Given the description of an element on the screen output the (x, y) to click on. 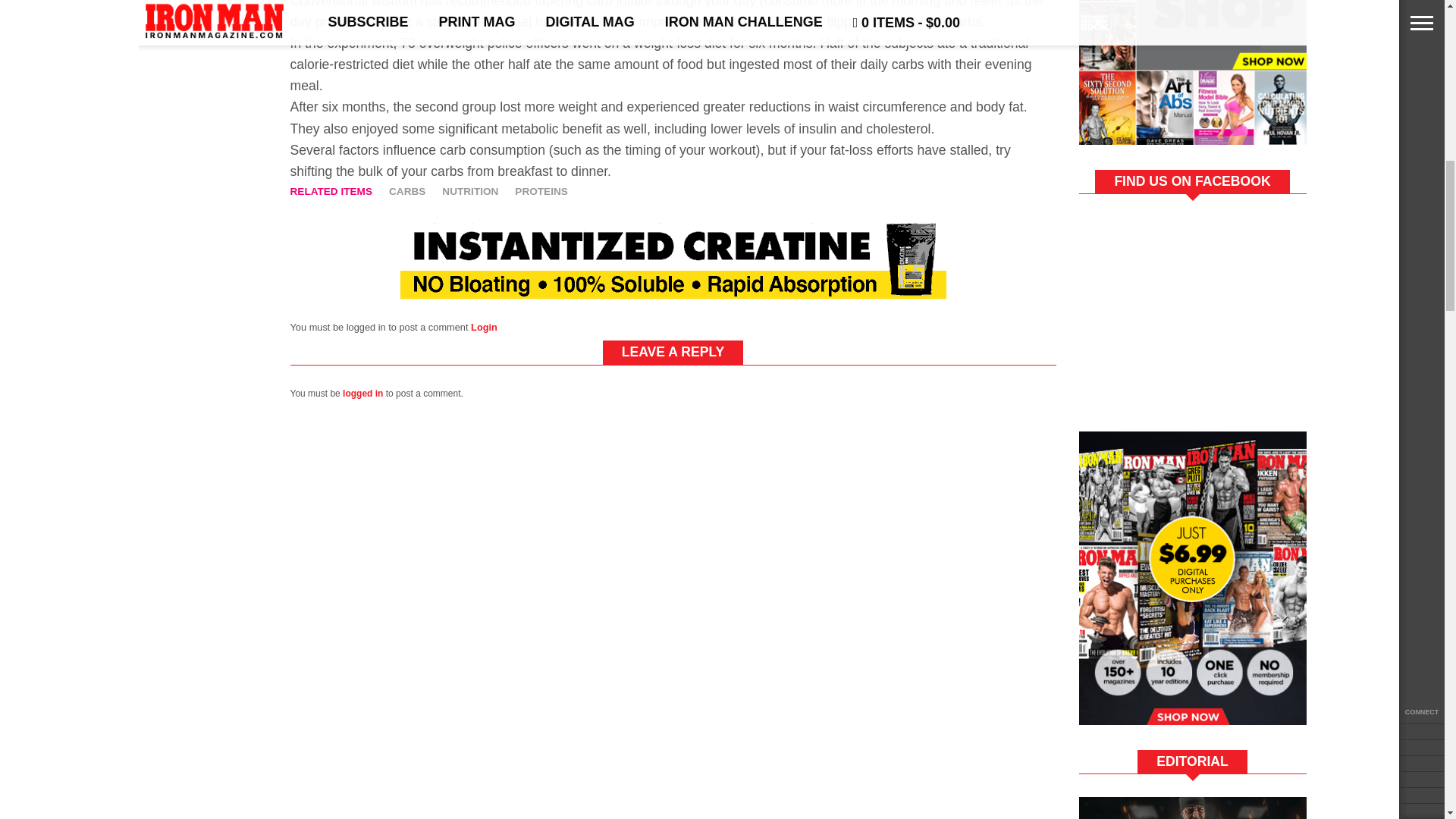
Instantized Creatine - Gains In Bulk (673, 294)
